Given the description of an element on the screen output the (x, y) to click on. 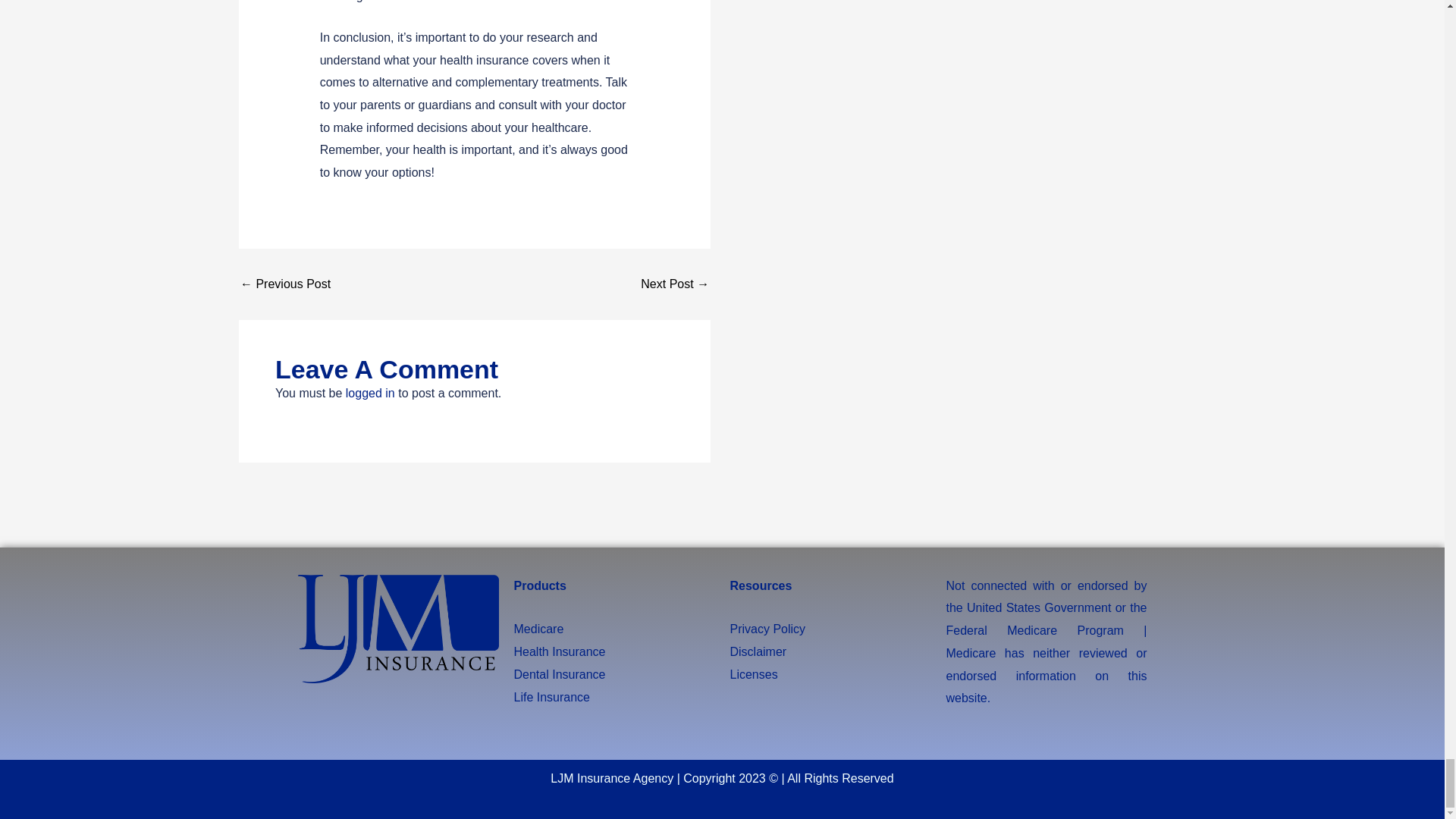
logged in (370, 392)
Health Insurance (559, 651)
Dental Insurance (559, 674)
Life Insurance (552, 697)
Privacy Policy (767, 628)
Does Dental Insurance Cover Wisdom Tooth Extraction? (674, 284)
Medicare (538, 628)
